Given the description of an element on the screen output the (x, y) to click on. 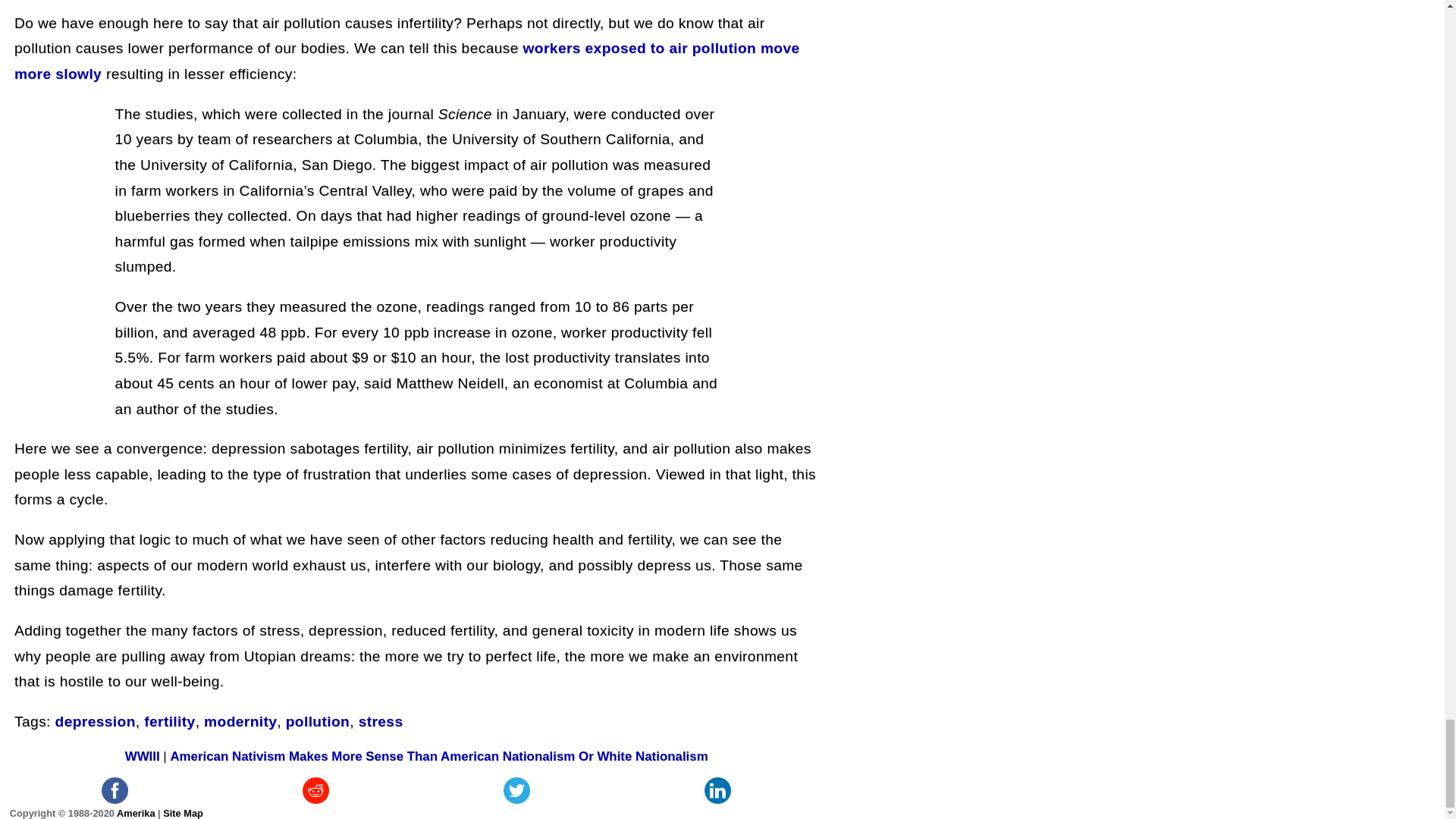
fertility (169, 721)
pollution (317, 721)
workers exposed to air pollution move more slowly (406, 60)
stress (380, 721)
WWIII (142, 756)
Reddit (315, 790)
LinkedIn (717, 790)
Twitter (516, 790)
Facebook (114, 790)
